Given the description of an element on the screen output the (x, y) to click on. 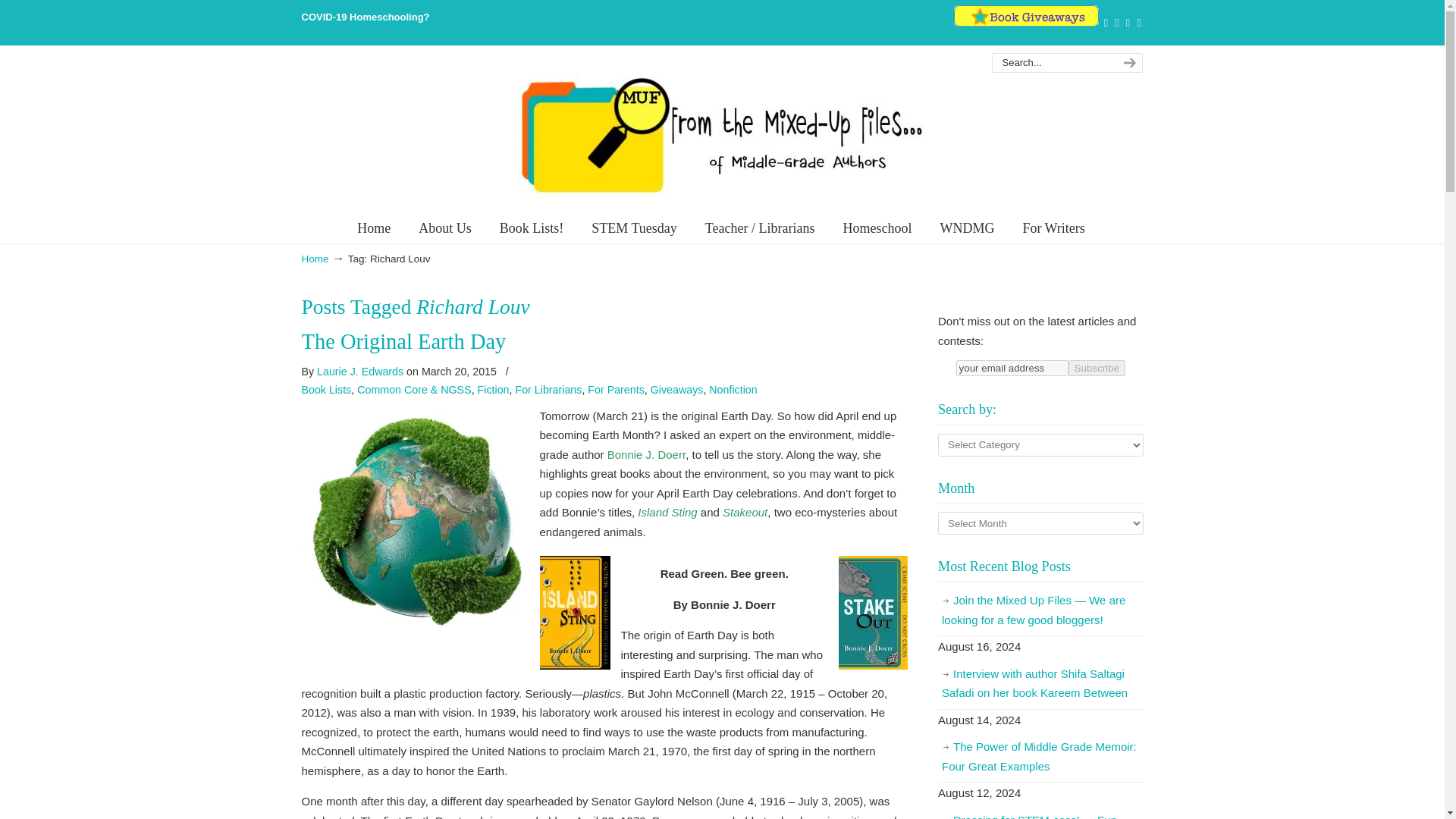
your email address (1012, 367)
About Us (444, 228)
search (1126, 62)
Homeschool (876, 228)
Bonnie J. Doerr (646, 454)
The Original Earth Day (403, 341)
search (1126, 62)
Posts by Laurie J. Edwards (360, 371)
COVID-19 Homeschooling? (365, 16)
STEM Tuesday (634, 228)
